Given the description of an element on the screen output the (x, y) to click on. 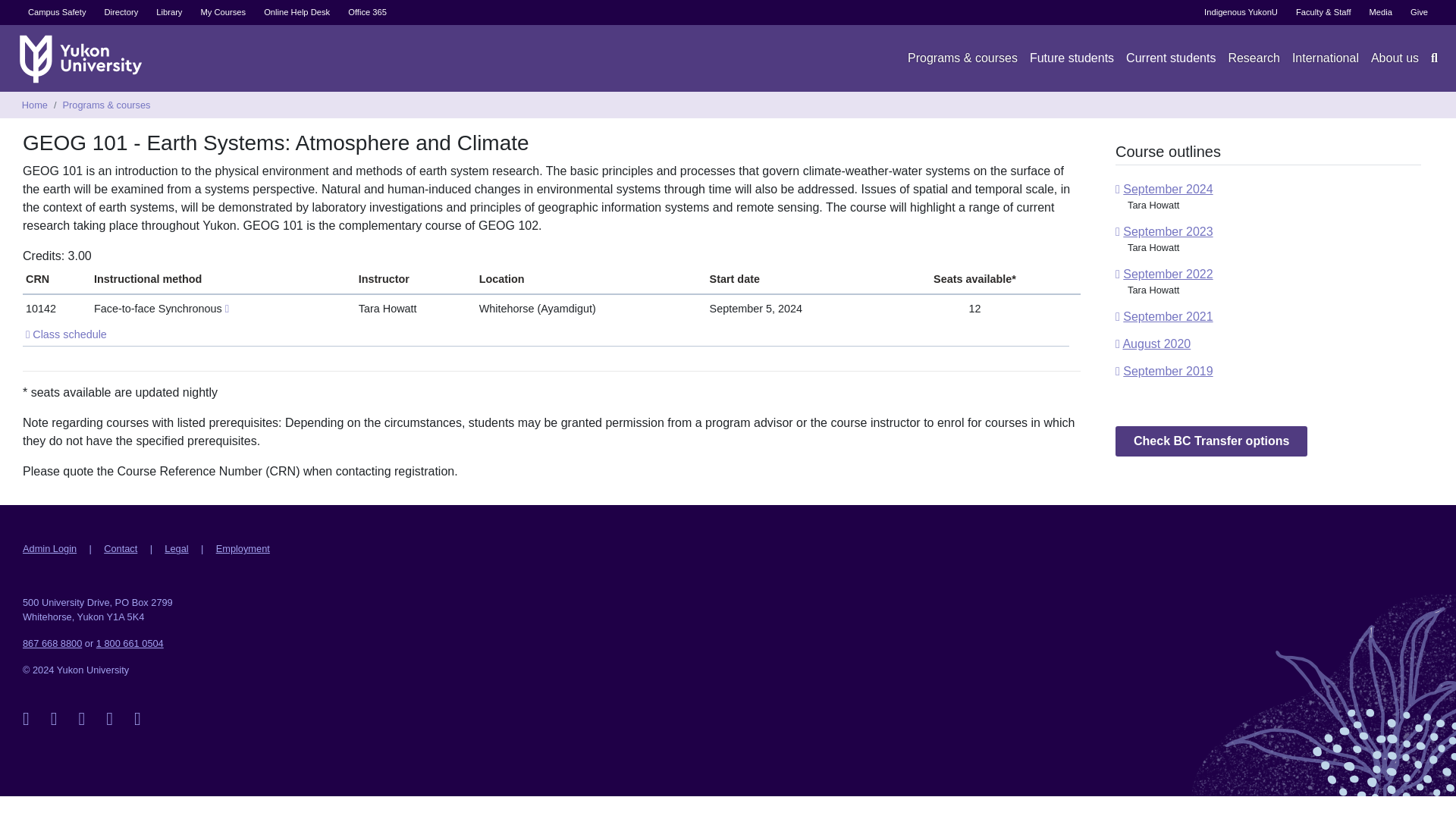
Indigenous YukonU (1241, 12)
My Courses (222, 12)
Home (82, 58)
Skip to main content (727, 1)
Media (1379, 12)
Online Help Desk (296, 12)
Directory (120, 12)
Give (1418, 12)
Library (168, 12)
Campus Safety (56, 12)
Office 365 (367, 12)
